Given the description of an element on the screen output the (x, y) to click on. 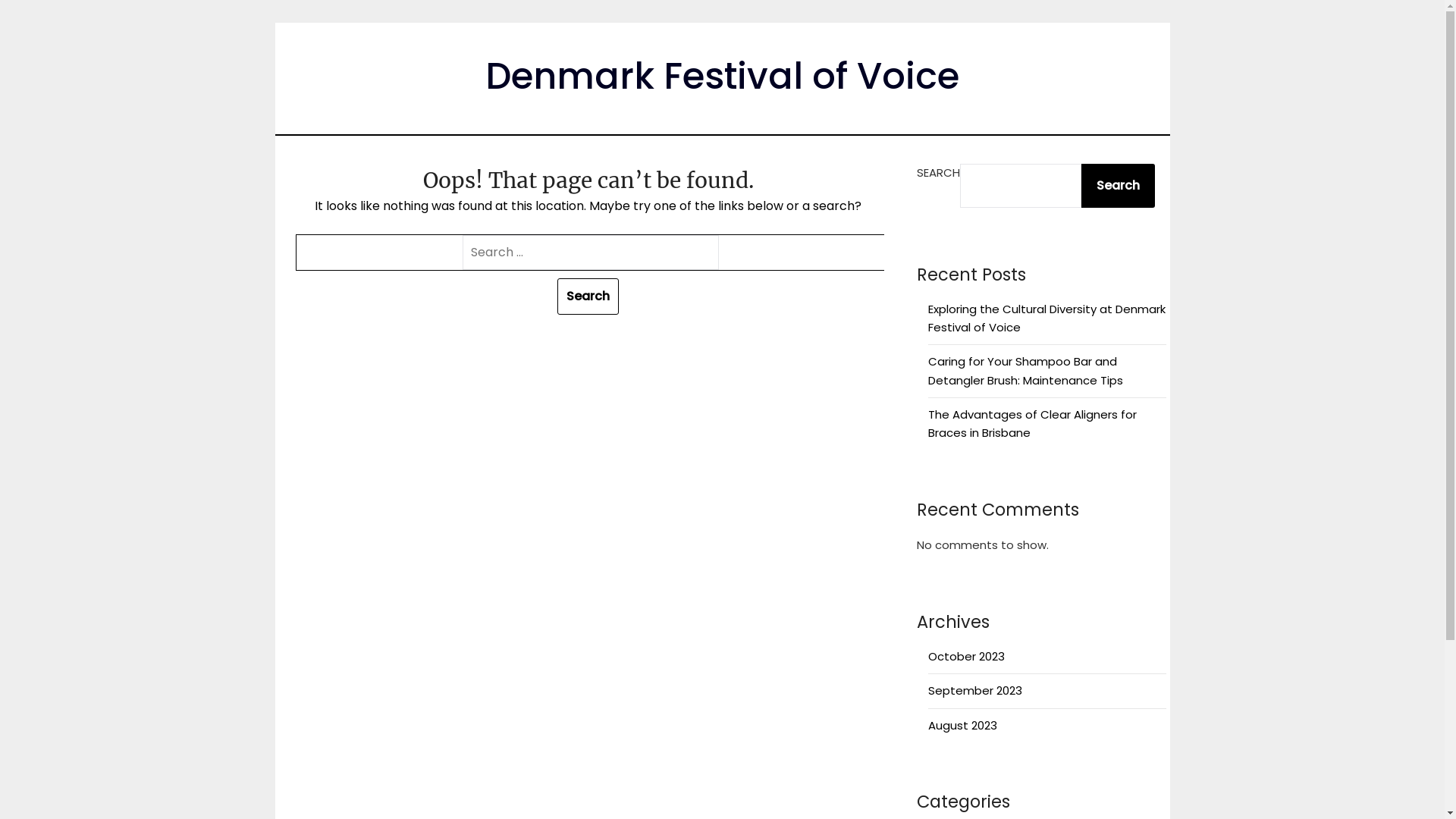
August 2023 Element type: text (962, 725)
October 2023 Element type: text (966, 656)
The Advantages of Clear Aligners for Braces in Brisbane Element type: text (1032, 423)
Search Element type: text (1117, 185)
Denmark Festival of Voice Element type: text (722, 75)
Search Element type: text (587, 296)
September 2023 Element type: text (975, 690)
